Given the description of an element on the screen output the (x, y) to click on. 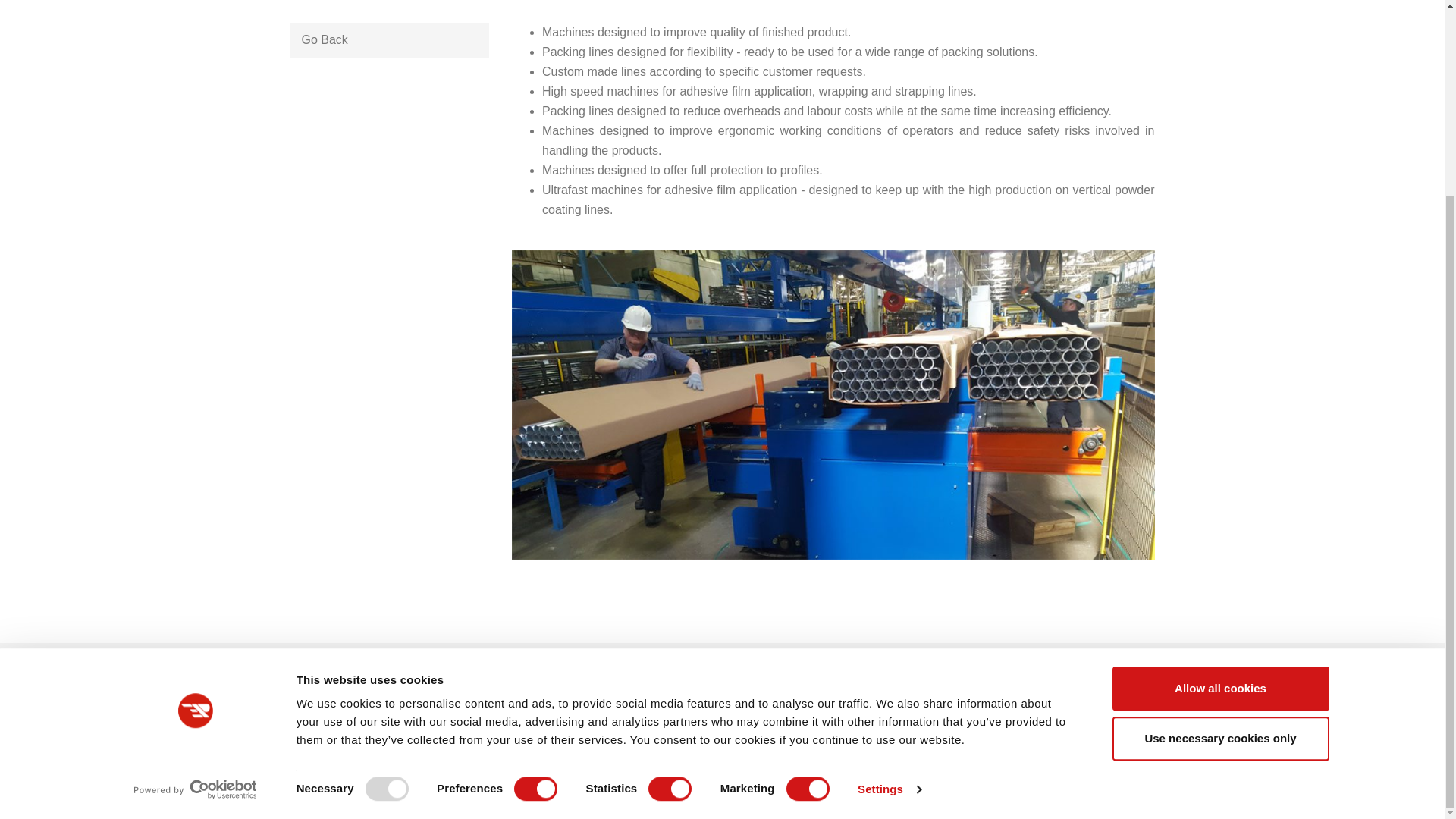
Use necessary cookies only (1219, 491)
Allow all cookies (1219, 441)
Settings (888, 541)
